Given the description of an element on the screen output the (x, y) to click on. 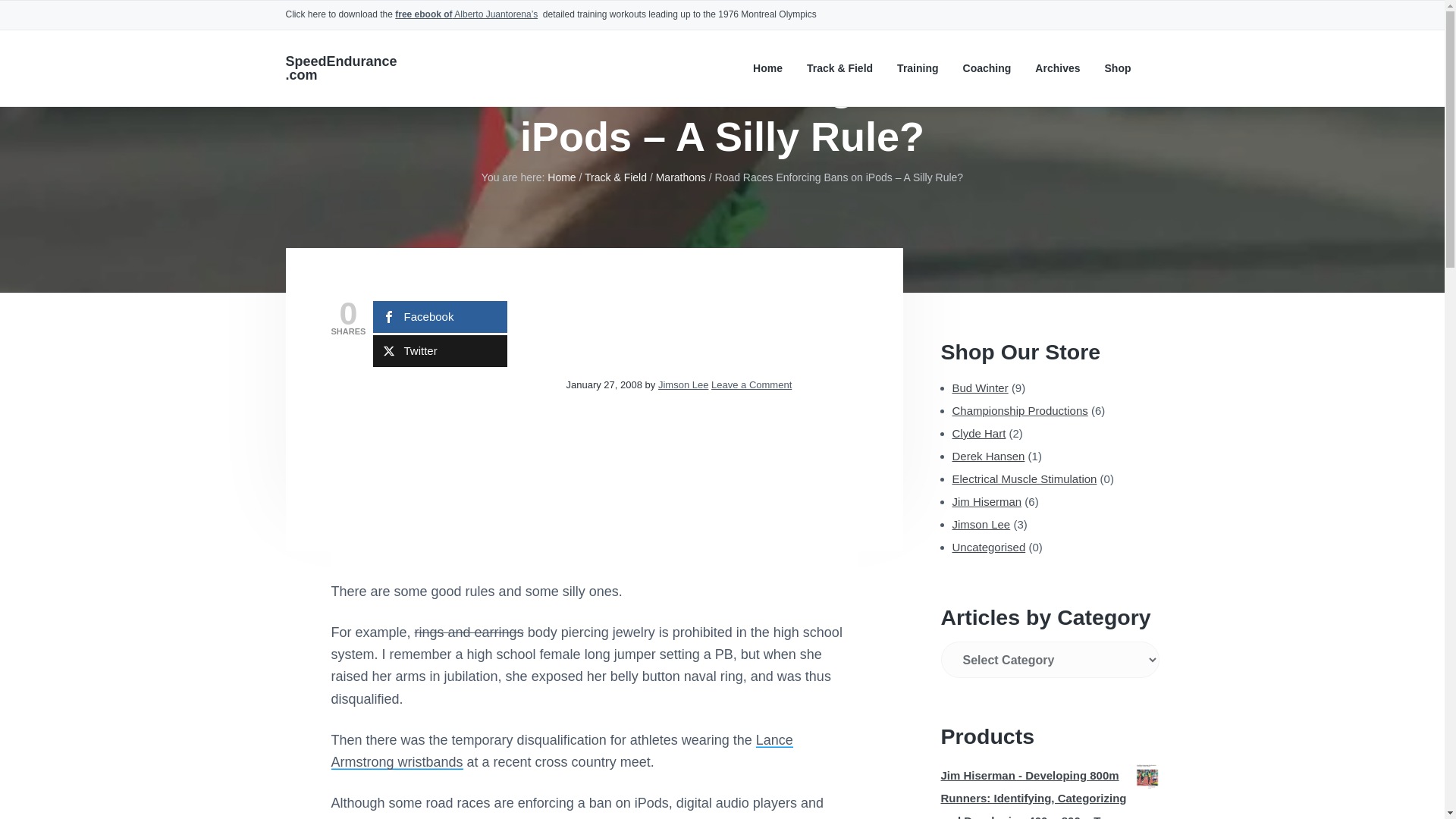
Facebook (439, 316)
Archives (1057, 67)
Home (561, 177)
Lance Armstrong wristbands (561, 750)
Search (60, 18)
Marathons (681, 177)
Jimson Lee (682, 384)
Coaching (986, 67)
Home (767, 67)
Shop (1117, 67)
SpeedEndurance.com (340, 68)
Training (916, 67)
Twitter (439, 350)
Leave a Comment (751, 384)
